Given the description of an element on the screen output the (x, y) to click on. 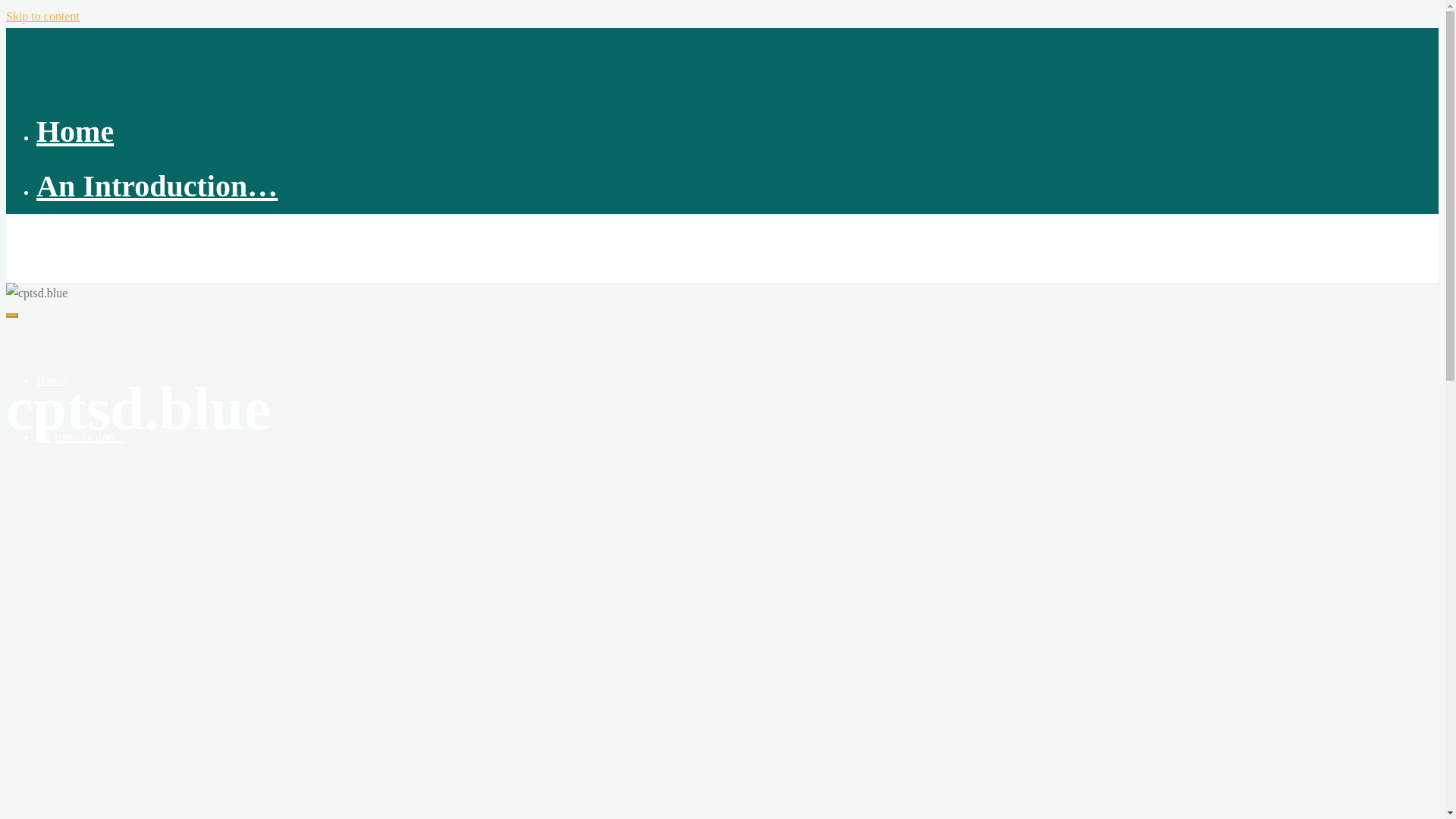
Skip to content (42, 15)
Home (74, 131)
Home (50, 379)
Skip to content (42, 15)
The C-PTSD Journey (78, 239)
